Given the description of an element on the screen output the (x, y) to click on. 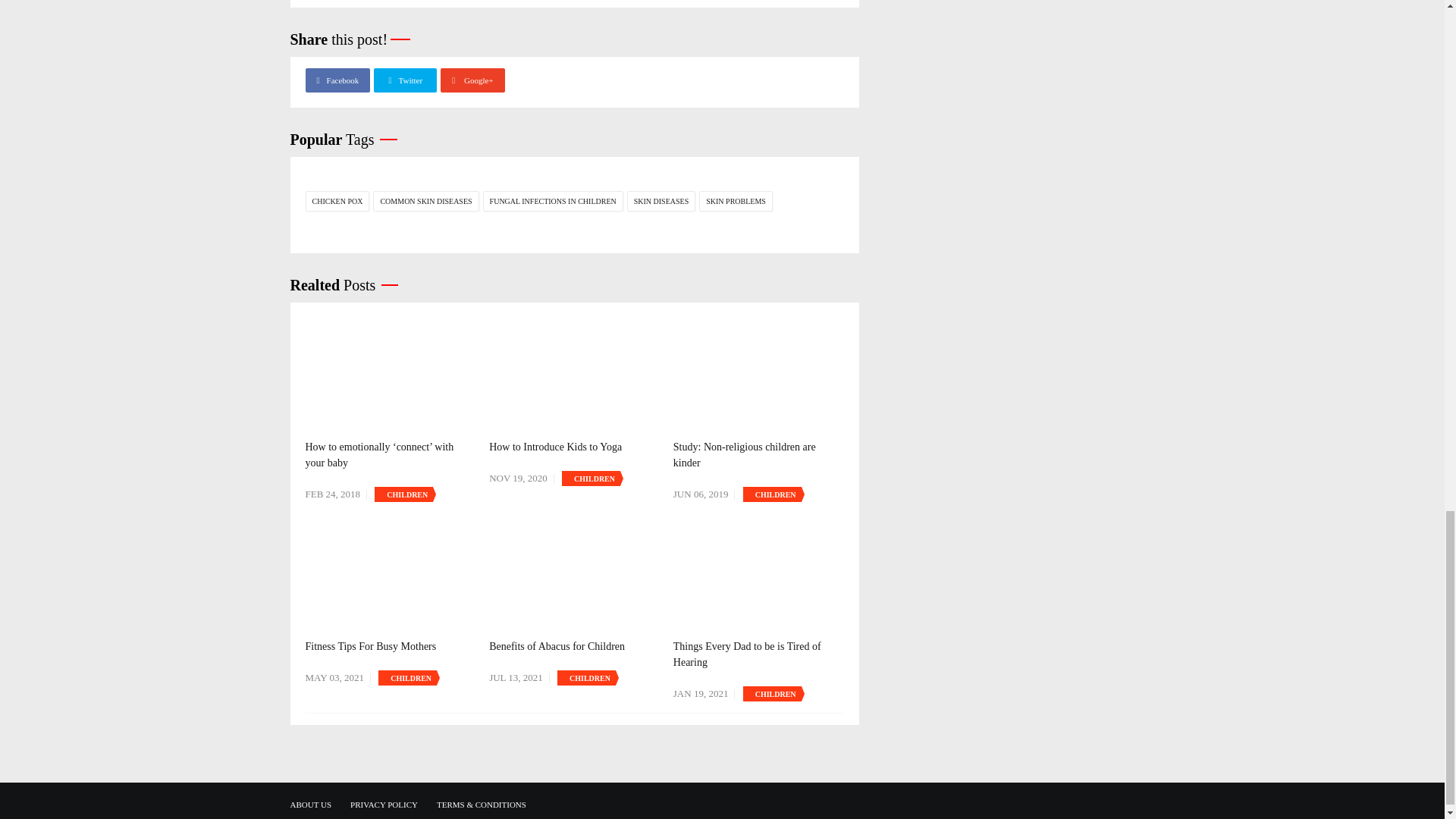
skin diseases Tag (661, 200)
fungal infections in children Tag (553, 200)
Twitter (405, 79)
skin problems Tag (735, 200)
SKIN DISEASES (661, 200)
SKIN PROBLEMS (735, 200)
CHICKEN POX (336, 200)
Chicken Pox Tag (336, 200)
common skin diseases Tag (425, 200)
FUNGAL INFECTIONS IN CHILDREN (553, 200)
